Given the description of an element on the screen output the (x, y) to click on. 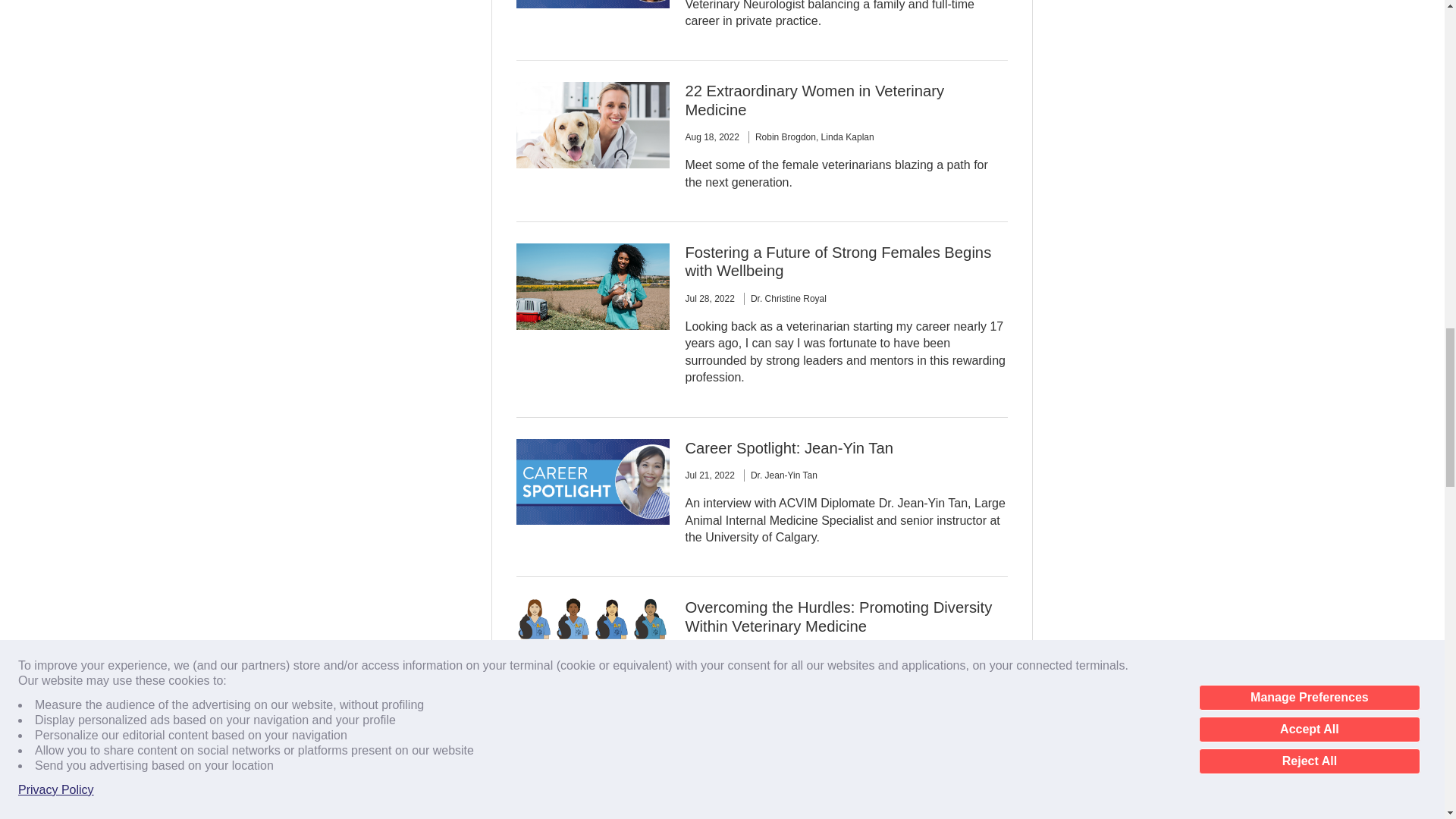
Fostering a Future of Strong Females Begins with Wellbeing (837, 261)
Career Spotlight: Jean-Yin Tan (788, 447)
22 Extraordinary Women in Veterinary Medicine (813, 99)
